Given the description of an element on the screen output the (x, y) to click on. 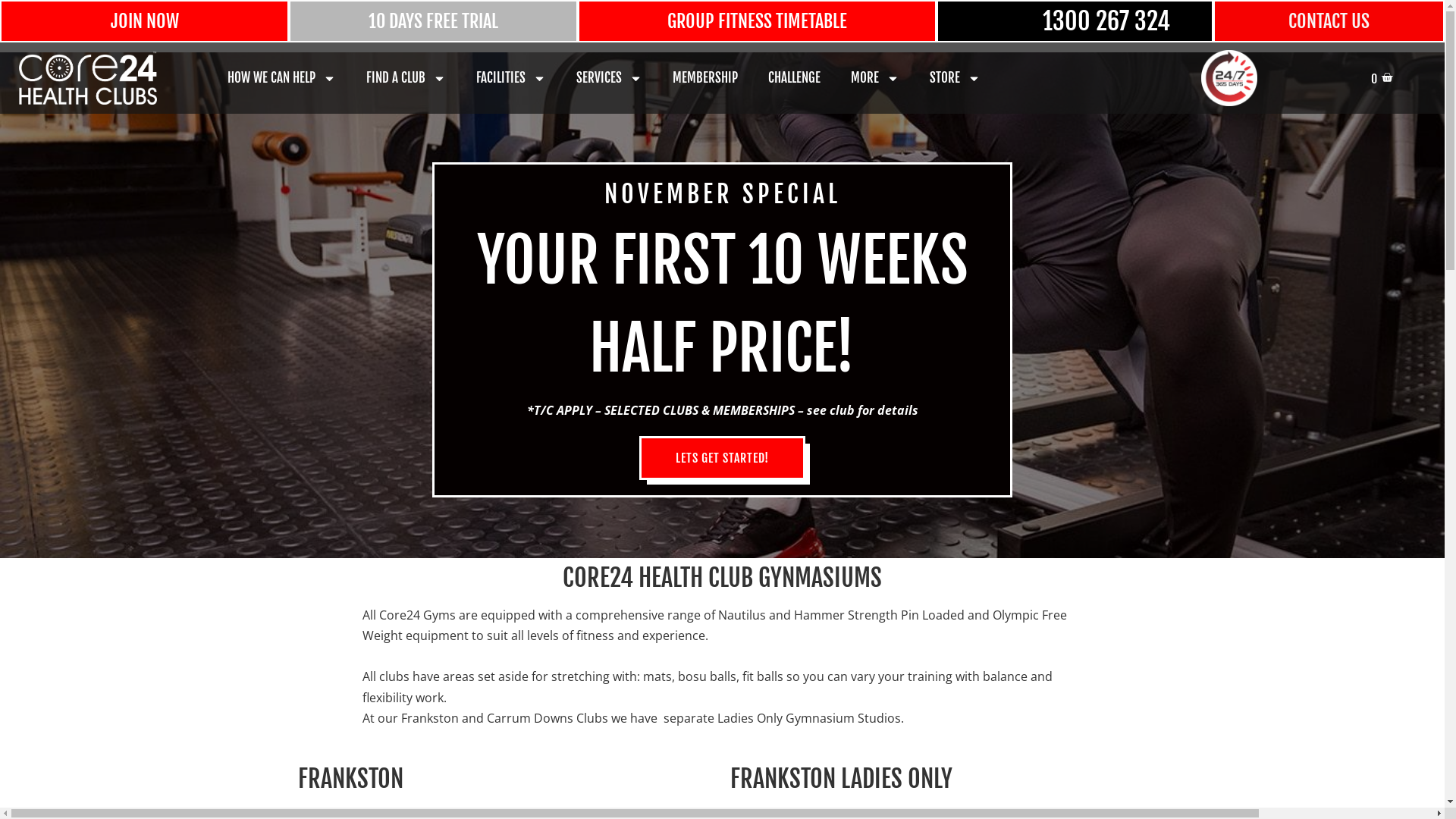
HOW WE CAN HELP Element type: text (281, 77)
0 Element type: text (1382, 77)
GROUP FITNESS TIMETABLE Element type: text (757, 20)
SERVICES Element type: text (609, 77)
STORE Element type: text (954, 77)
MEMBERSHIP Element type: text (705, 77)
10 DAYS FREE TRIAL Element type: text (433, 20)
LETS GET STARTED! Element type: text (722, 458)
MORE Element type: text (874, 77)
FIND A CLUB Element type: text (406, 77)
FACILITIES Element type: text (511, 77)
CHALLENGE Element type: text (794, 77)
1300 267 324 Element type: text (1106, 21)
CONTACT US Element type: text (1328, 20)
JOIN NOW Element type: text (144, 20)
